Given the description of an element on the screen output the (x, y) to click on. 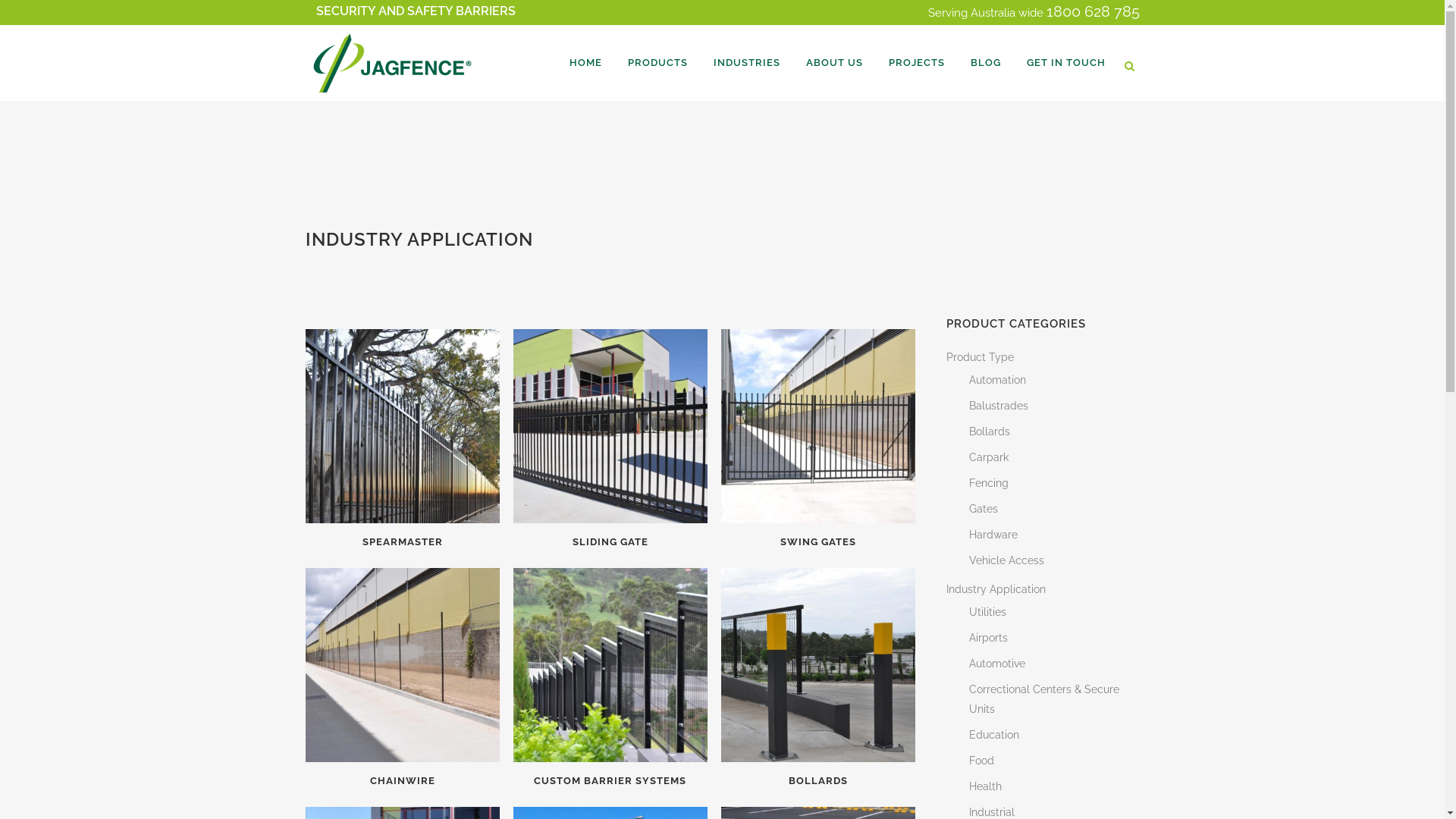
Bollards Element type: text (989, 431)
Carpark Element type: text (988, 457)
SLIDING GATE Element type: text (610, 536)
Health Element type: text (985, 786)
1800 628 785 Element type: text (1092, 11)
Food Element type: text (981, 760)
SPEARMASTER Element type: text (401, 536)
SWING GATES Element type: text (818, 536)
BLOG Element type: text (985, 62)
Product Type Element type: text (979, 357)
Airports Element type: text (988, 637)
Correctional Centers & Secure Units Element type: text (1044, 699)
PRODUCTS Element type: text (656, 62)
Automation Element type: text (997, 379)
ABOUT US Element type: text (834, 62)
Vehicle Access Element type: text (1006, 560)
CHAINWIRE Element type: text (401, 775)
GET IN TOUCH Element type: text (1065, 62)
PROJECTS Element type: text (916, 62)
Fencing Element type: text (988, 482)
Hardware Element type: text (993, 534)
Automotive Element type: text (997, 663)
INDUSTRIES Element type: text (746, 62)
Industry Application Element type: text (995, 589)
BOLLARDS Element type: text (818, 775)
Utilities Element type: text (987, 611)
CUSTOM BARRIER SYSTEMS Element type: text (610, 775)
Balustrades Element type: text (998, 405)
Gates Element type: text (983, 508)
Education Element type: text (994, 734)
Industrial Element type: text (991, 812)
HOME Element type: text (585, 62)
